Given the description of an element on the screen output the (x, y) to click on. 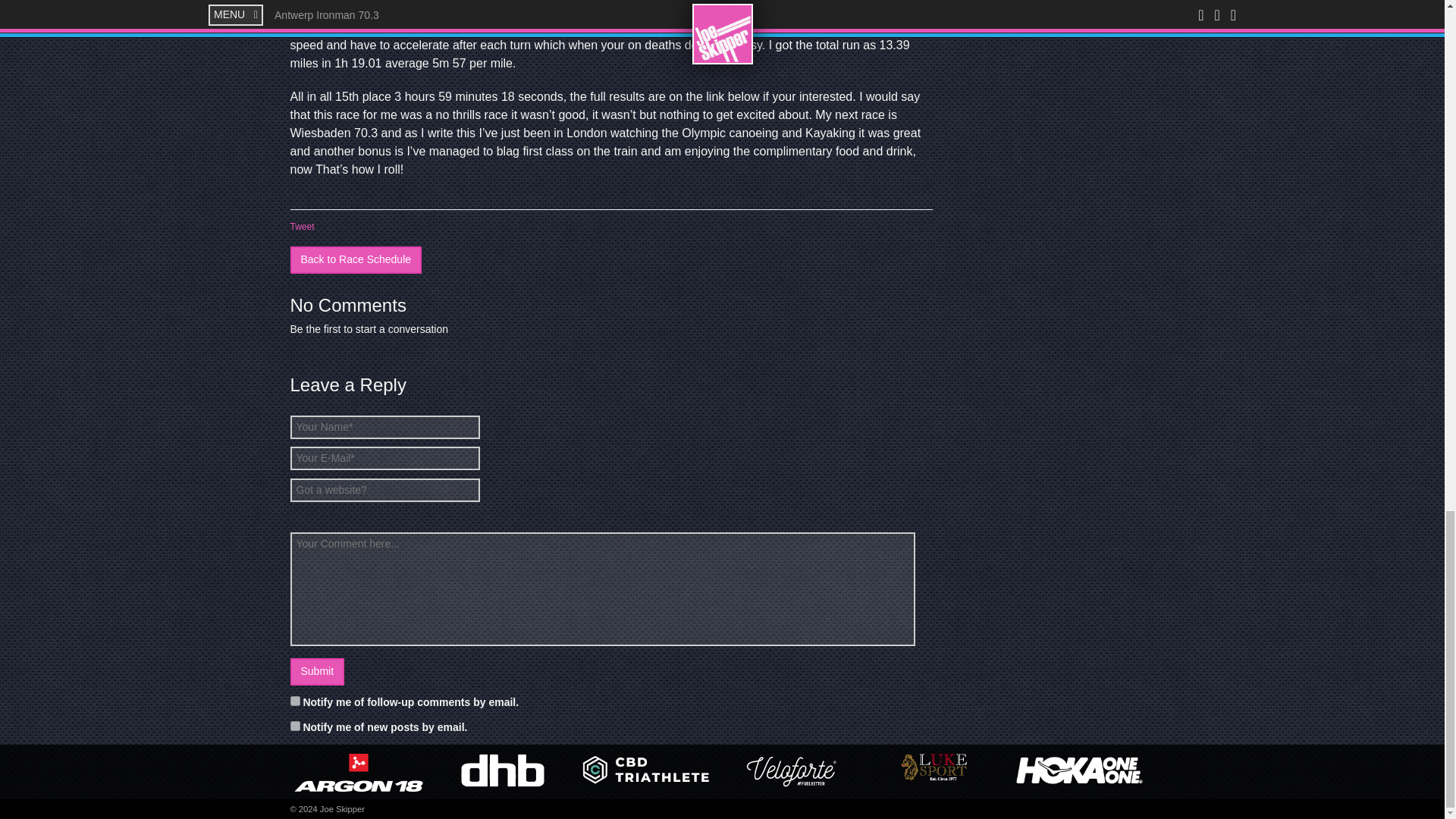
Submit (316, 671)
subscribe (294, 700)
Back to Race Schedule (355, 259)
subscribe (294, 726)
Submit (316, 671)
Tweet (301, 226)
